Given the description of an element on the screen output the (x, y) to click on. 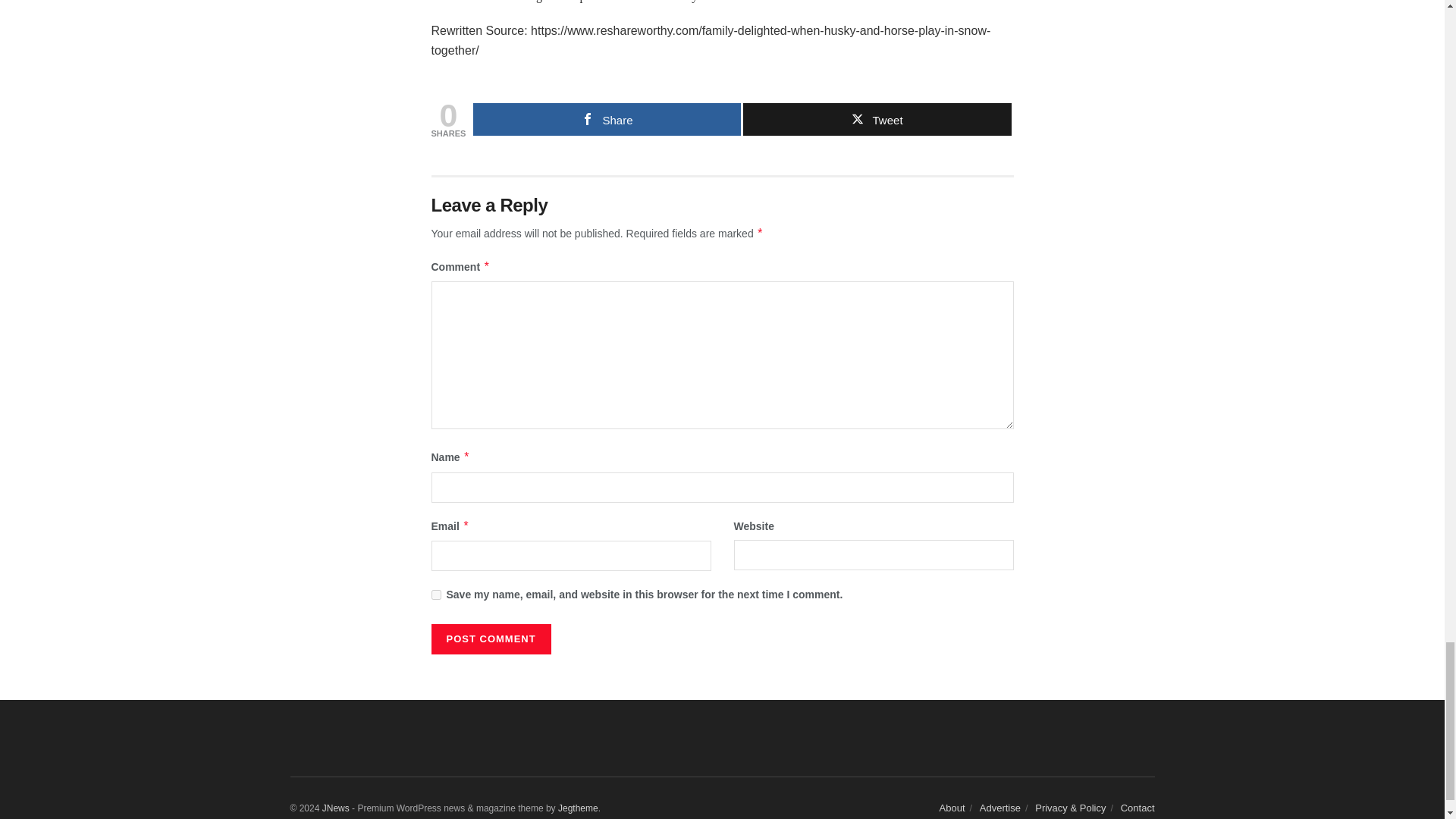
Advertise (999, 808)
yes (435, 594)
Tweet (876, 119)
Jegtheme (577, 808)
Share (607, 119)
About (952, 808)
Post Comment (490, 639)
Post Comment (490, 639)
